Given the description of an element on the screen output the (x, y) to click on. 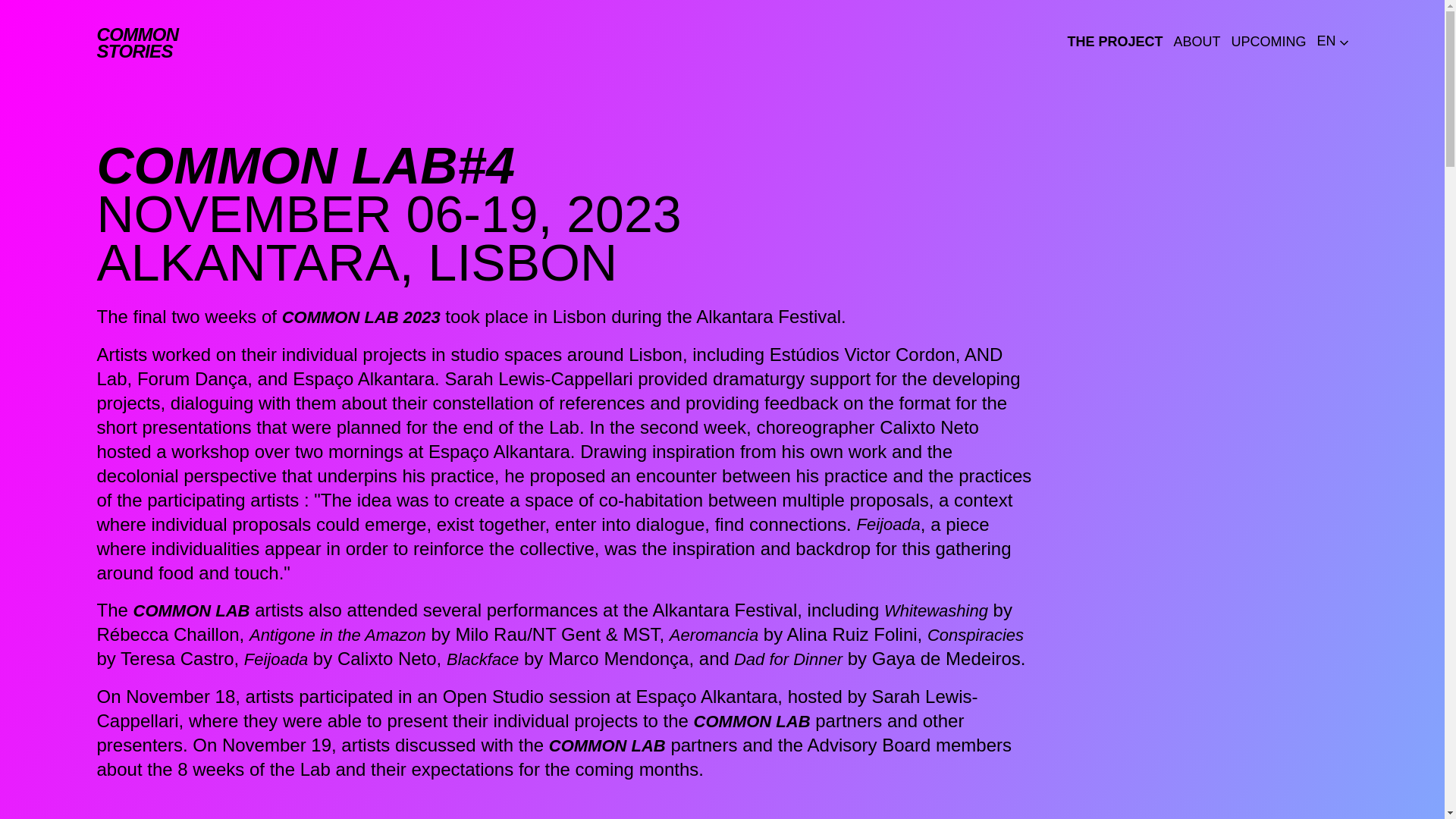
UPCOMING (138, 42)
ABOUT (1268, 41)
EN (1196, 41)
THE PROJECT (1332, 41)
